Given the description of an element on the screen output the (x, y) to click on. 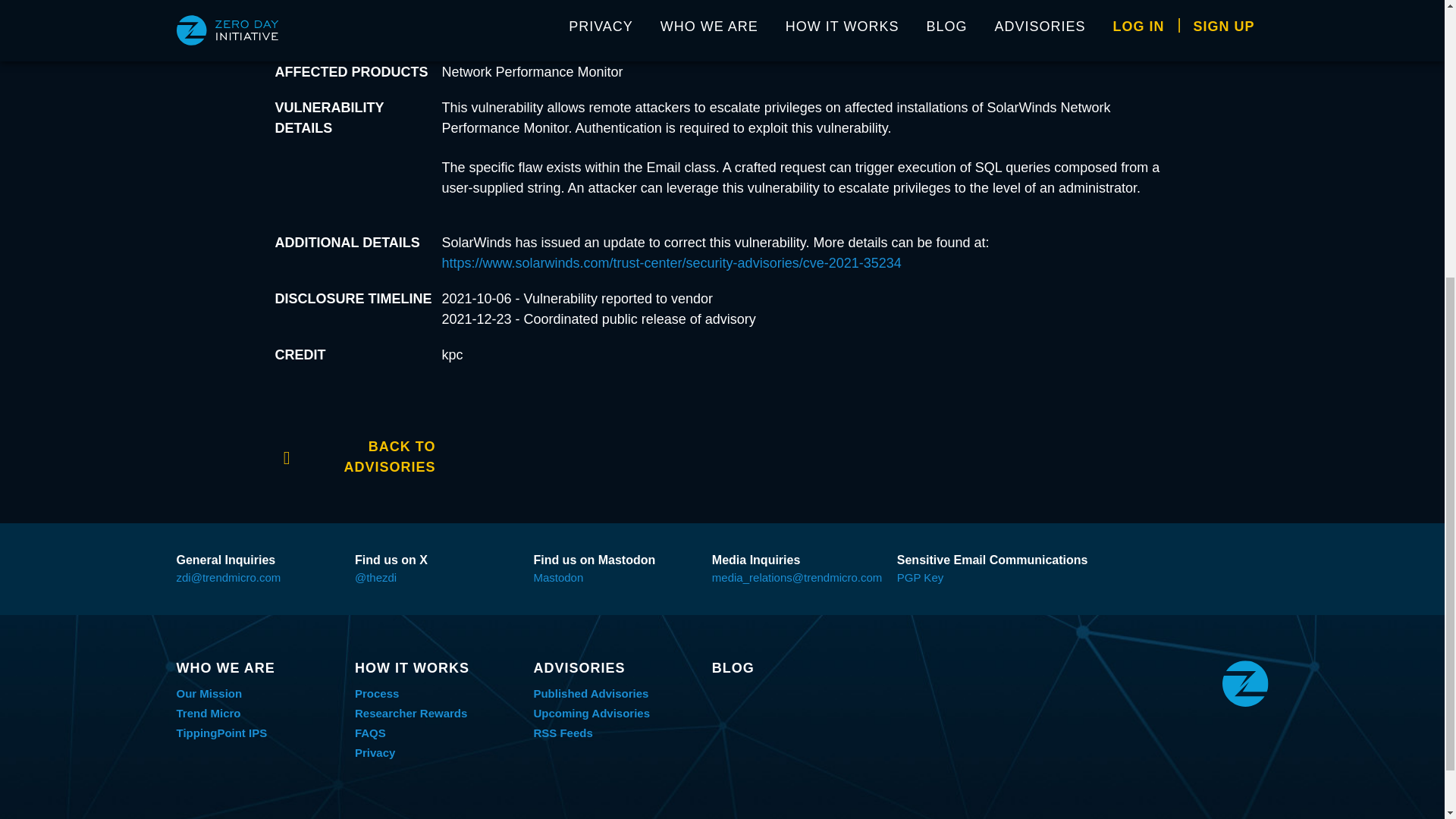
FAQS (370, 732)
Our Mission (208, 693)
RSS Feeds (562, 732)
Upcoming Advisories (590, 712)
BLOG (793, 668)
Process (376, 693)
Privacy (374, 752)
Researcher Rewards (411, 712)
BACK TO ADVISORIES (355, 455)
HOW IT WORKS (436, 668)
PGP Key (919, 576)
Trend Micro (208, 712)
Published Advisories (589, 693)
Mastodon (557, 576)
TippingPoint IPS (221, 732)
